Given the description of an element on the screen output the (x, y) to click on. 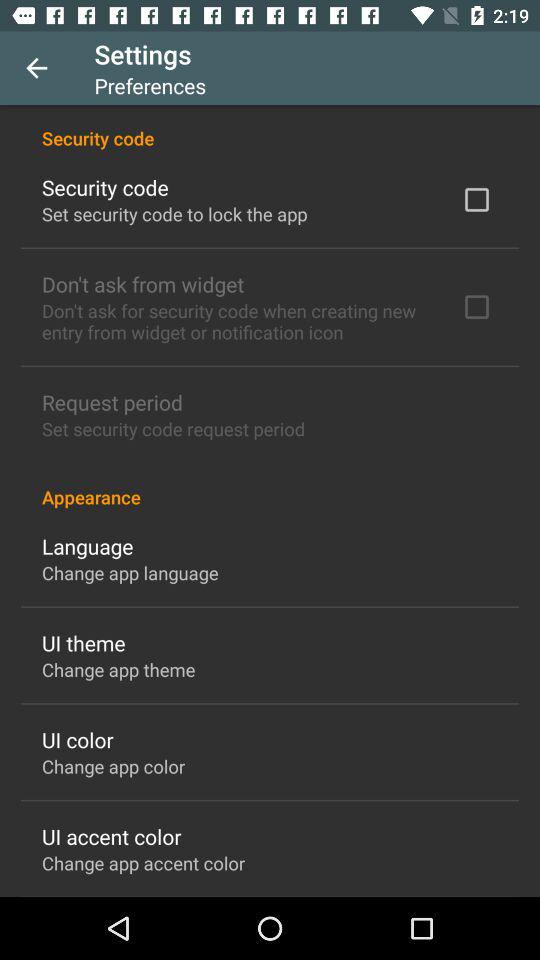
turn off the appearance item (270, 486)
